Given the description of an element on the screen output the (x, y) to click on. 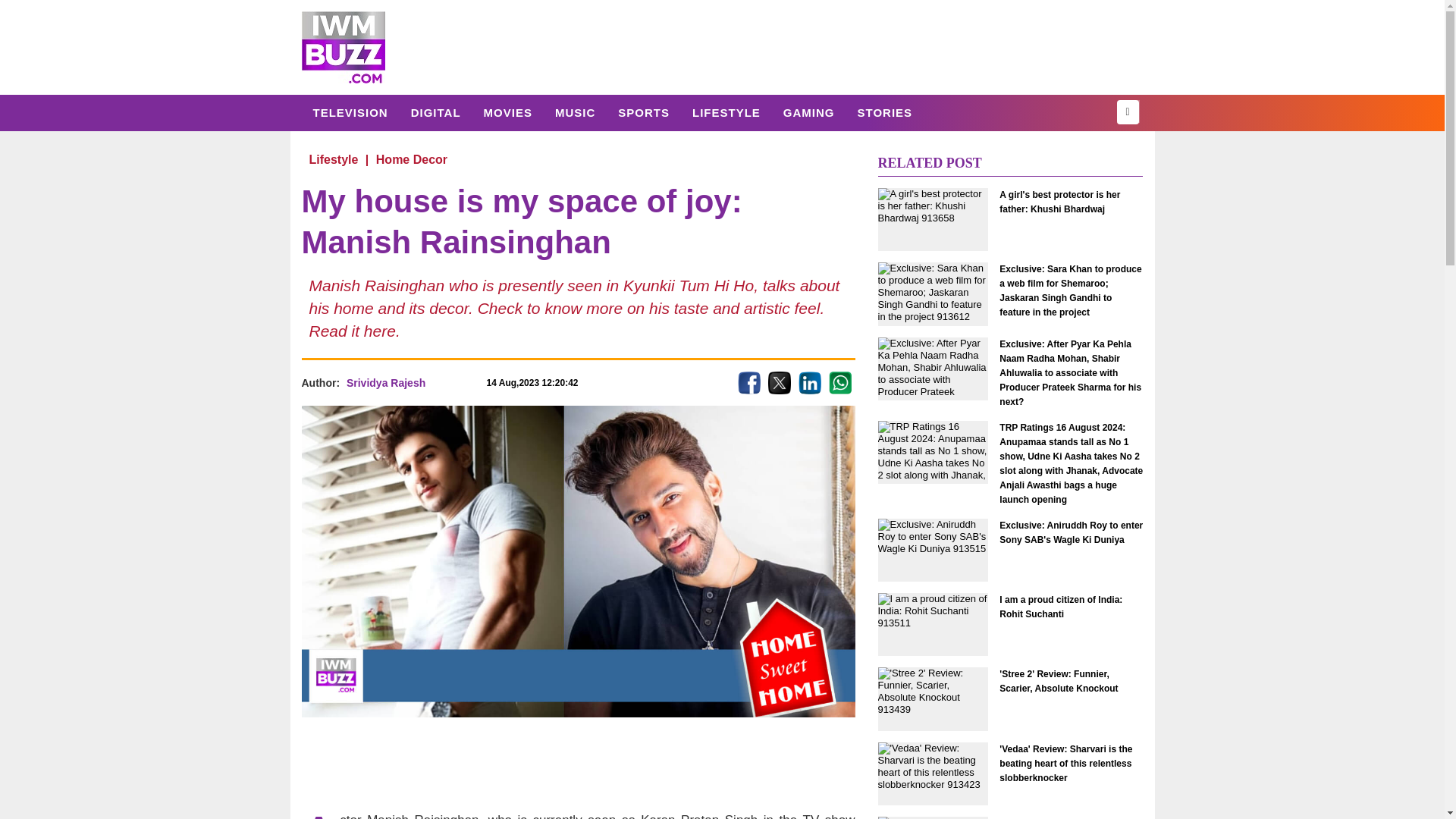
Television (349, 112)
Gaming (808, 112)
TELEVISION (349, 112)
DIGITAL (434, 112)
IWMBuzz (343, 46)
I am a proud citizen of India: Rohit Suchanti (1070, 606)
Web Stories (884, 112)
